Given the description of an element on the screen output the (x, y) to click on. 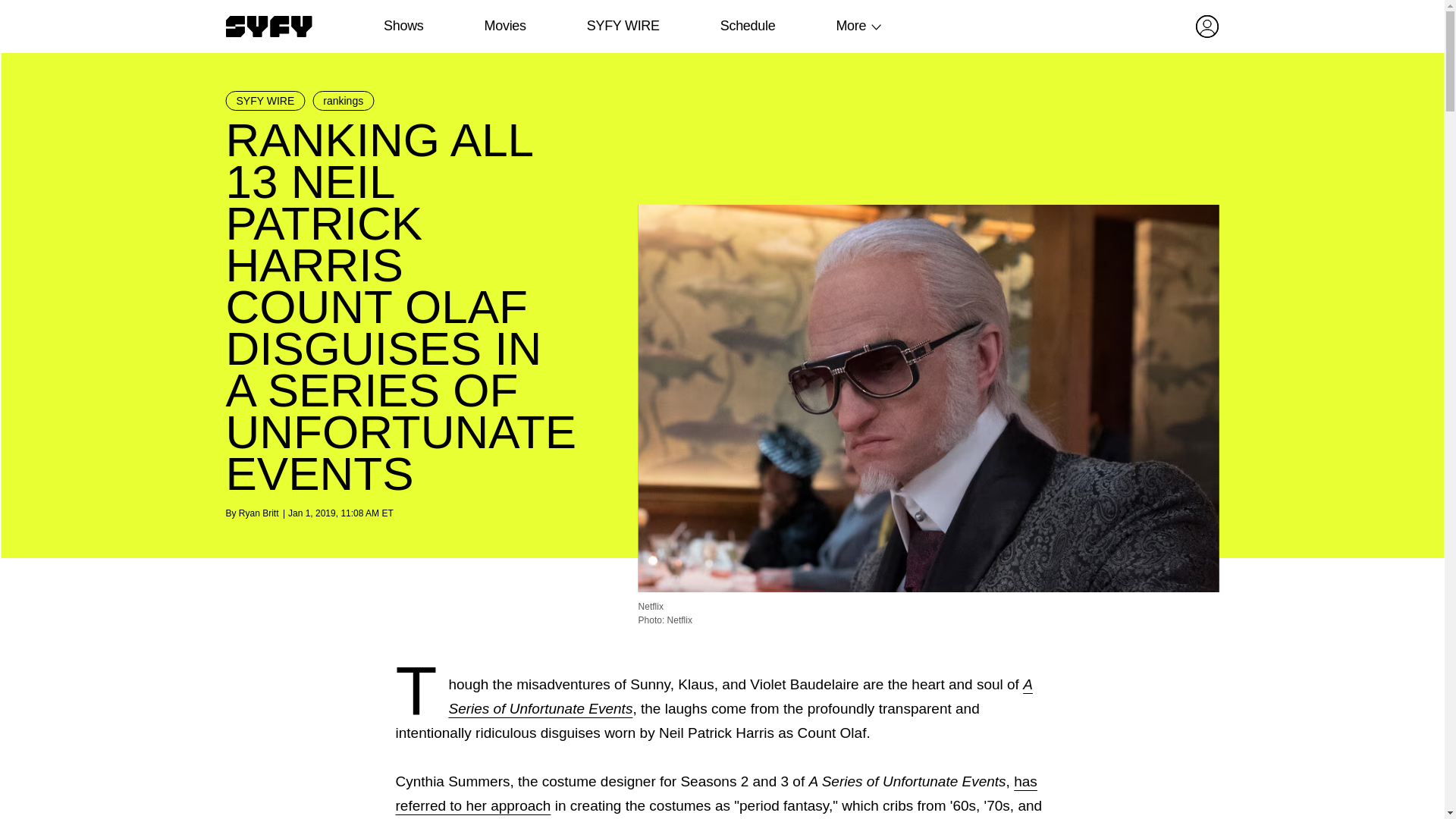
SYFY WIRE (265, 100)
Schedule (746, 26)
has referred to her approach (716, 793)
Movies (504, 26)
rankings (343, 100)
SYFY WIRE (622, 26)
Shows (403, 26)
Ryan Britt (258, 512)
More (850, 26)
